Given the description of an element on the screen output the (x, y) to click on. 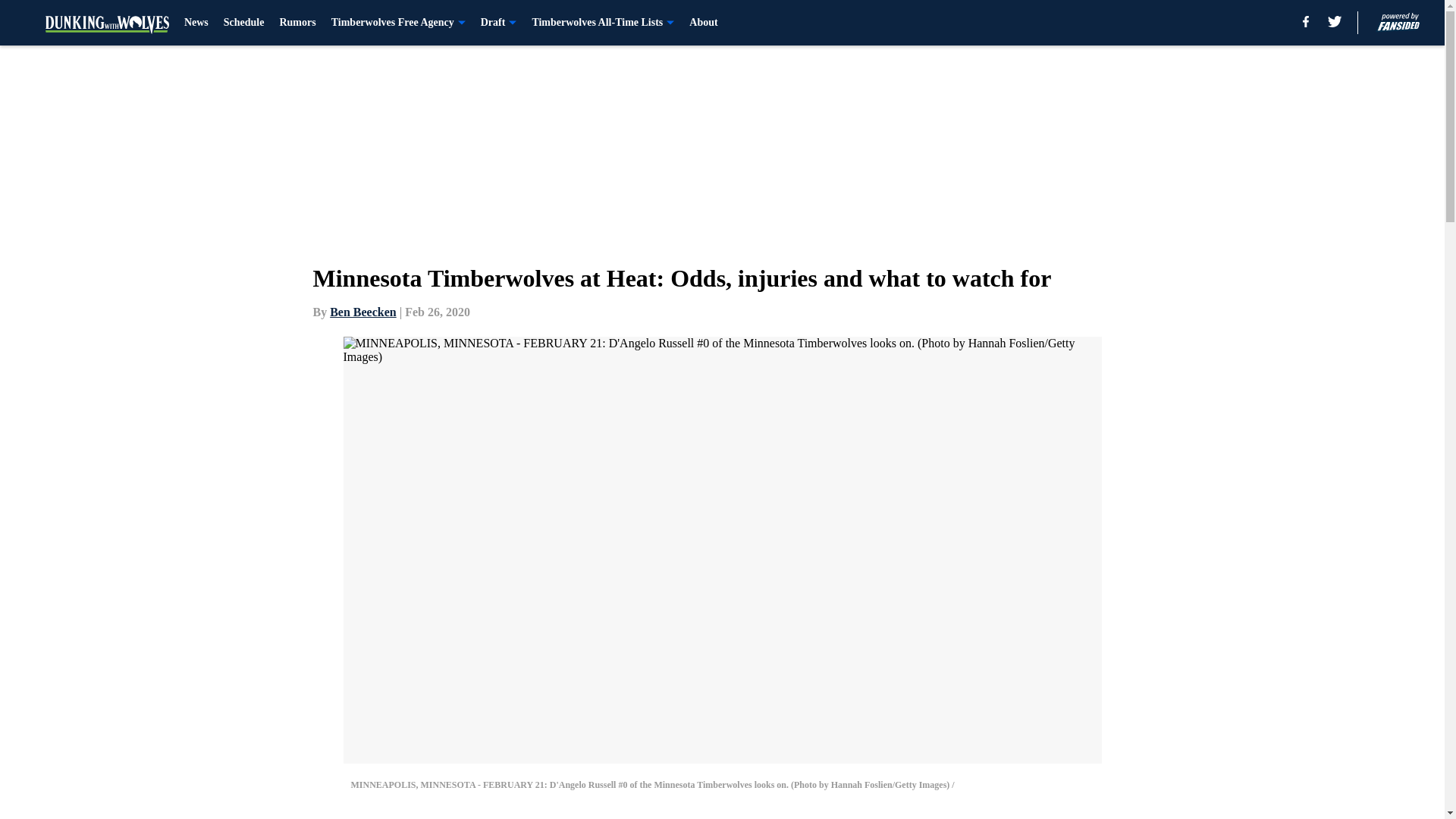
Timberwolves Free Agency (398, 22)
Rumors (297, 22)
Ben Beecken (363, 311)
Schedule (244, 22)
News (196, 22)
Draft (498, 22)
About (702, 22)
Timberwolves All-Time Lists (602, 22)
